Given the description of an element on the screen output the (x, y) to click on. 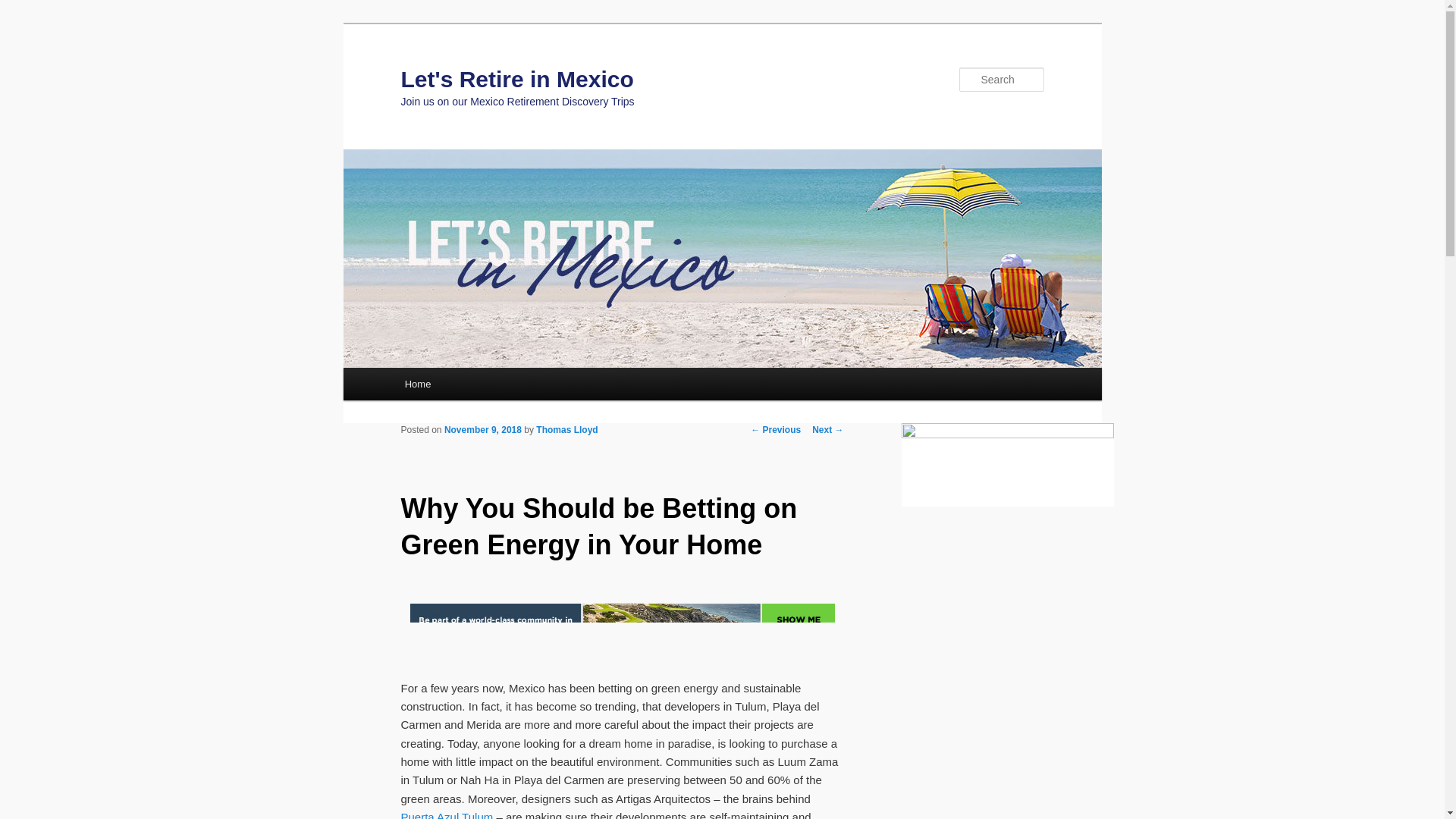
Let's Retire in Mexico (516, 78)
Thomas Lloyd (565, 429)
3:07 pm (482, 429)
View all posts by Thomas Lloyd (565, 429)
Home (417, 383)
November 9, 2018 (482, 429)
Puerta Azul Tulum (446, 814)
Search (24, 8)
Skip to primary content (472, 386)
